Given the description of an element on the screen output the (x, y) to click on. 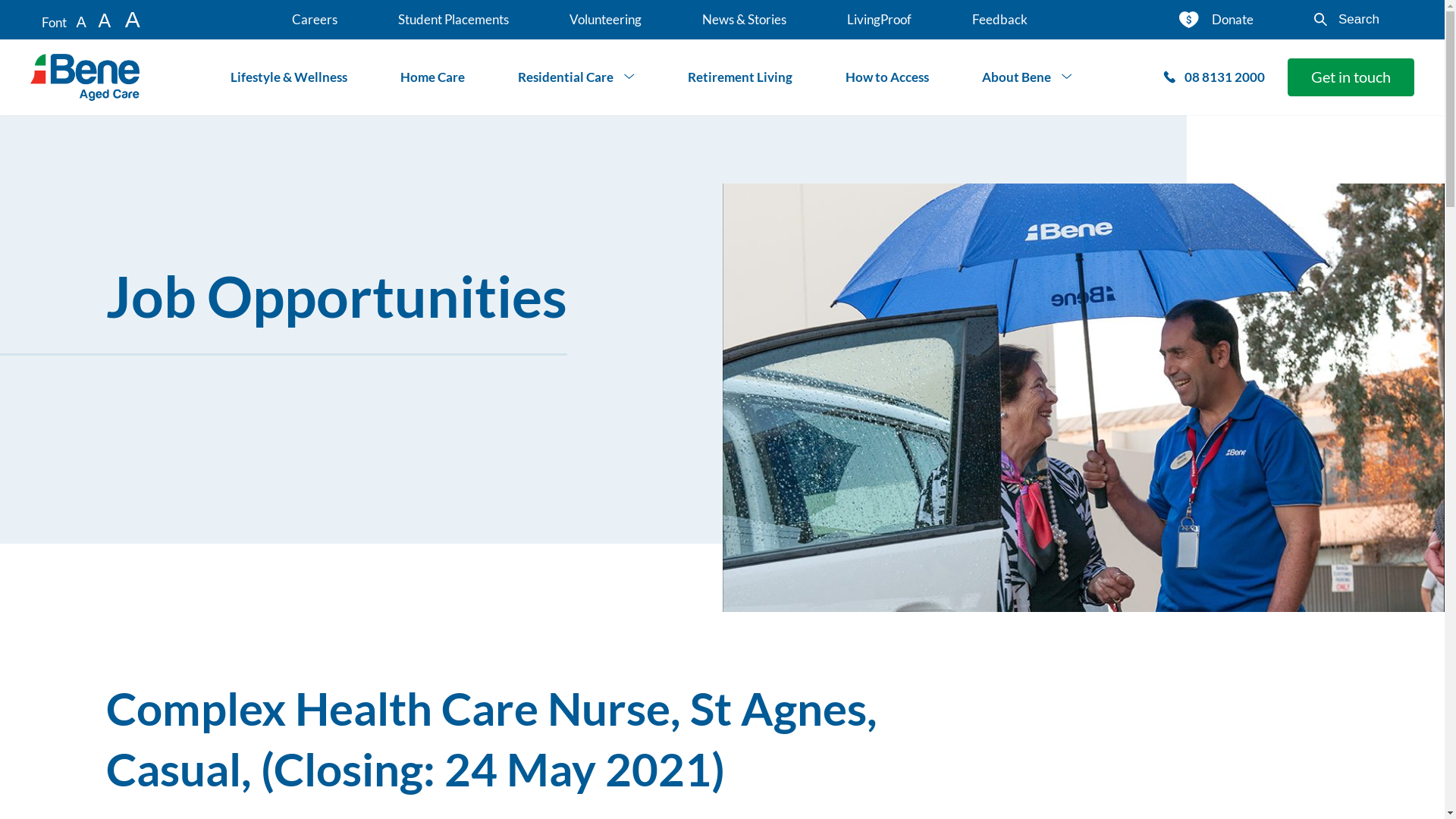
Careers Element type: text (314, 19)
A Element type: text (103, 20)
About Bene Element type: text (1026, 77)
Feedback Element type: text (999, 19)
How to Access Element type: text (887, 77)
A Element type: text (80, 21)
Lifestyle & Wellness Element type: text (288, 77)
08 8131 2000 Element type: text (1214, 76)
News & Stories Element type: text (743, 19)
Get in touch Element type: text (1350, 77)
Residential Care Element type: text (576, 77)
Retirement Living Element type: text (740, 77)
A Element type: text (132, 19)
Home Care Element type: text (432, 77)
Donate Element type: text (1216, 19)
LivingProof Element type: text (878, 19)
Student Placements Element type: text (453, 19)
Volunteering Element type: text (605, 19)
